Given the description of an element on the screen output the (x, y) to click on. 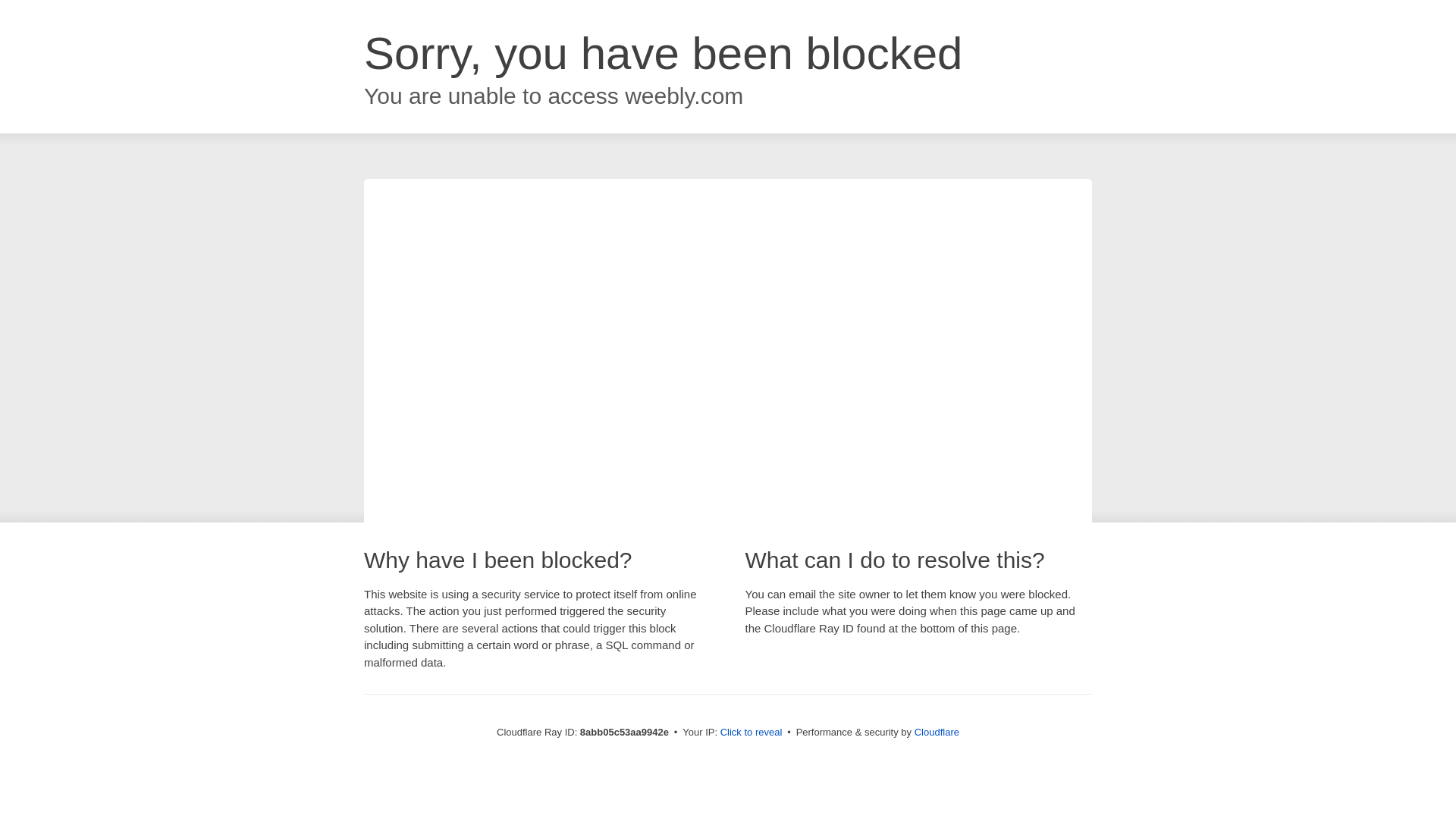
Cloudflare (936, 731)
Click to reveal (751, 732)
